Given the description of an element on the screen output the (x, y) to click on. 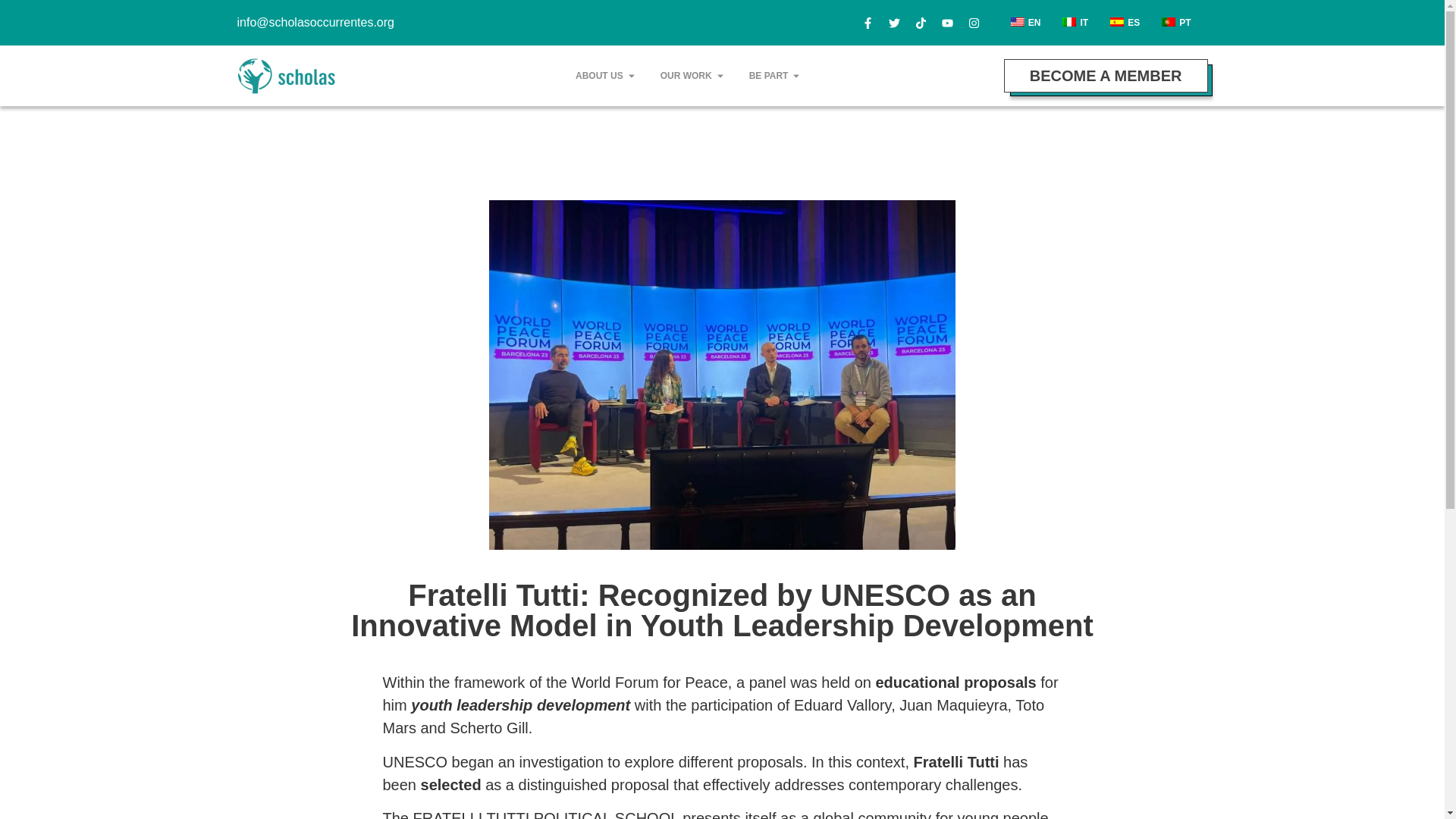
Portuguese (1167, 21)
PT (1173, 22)
EN (1023, 22)
ABOUT US (599, 75)
Italian (1068, 21)
IT (1073, 22)
BE PART (769, 75)
OUR WORK (686, 75)
Spanish (1116, 21)
ES (1122, 22)
